Given the description of an element on the screen output the (x, y) to click on. 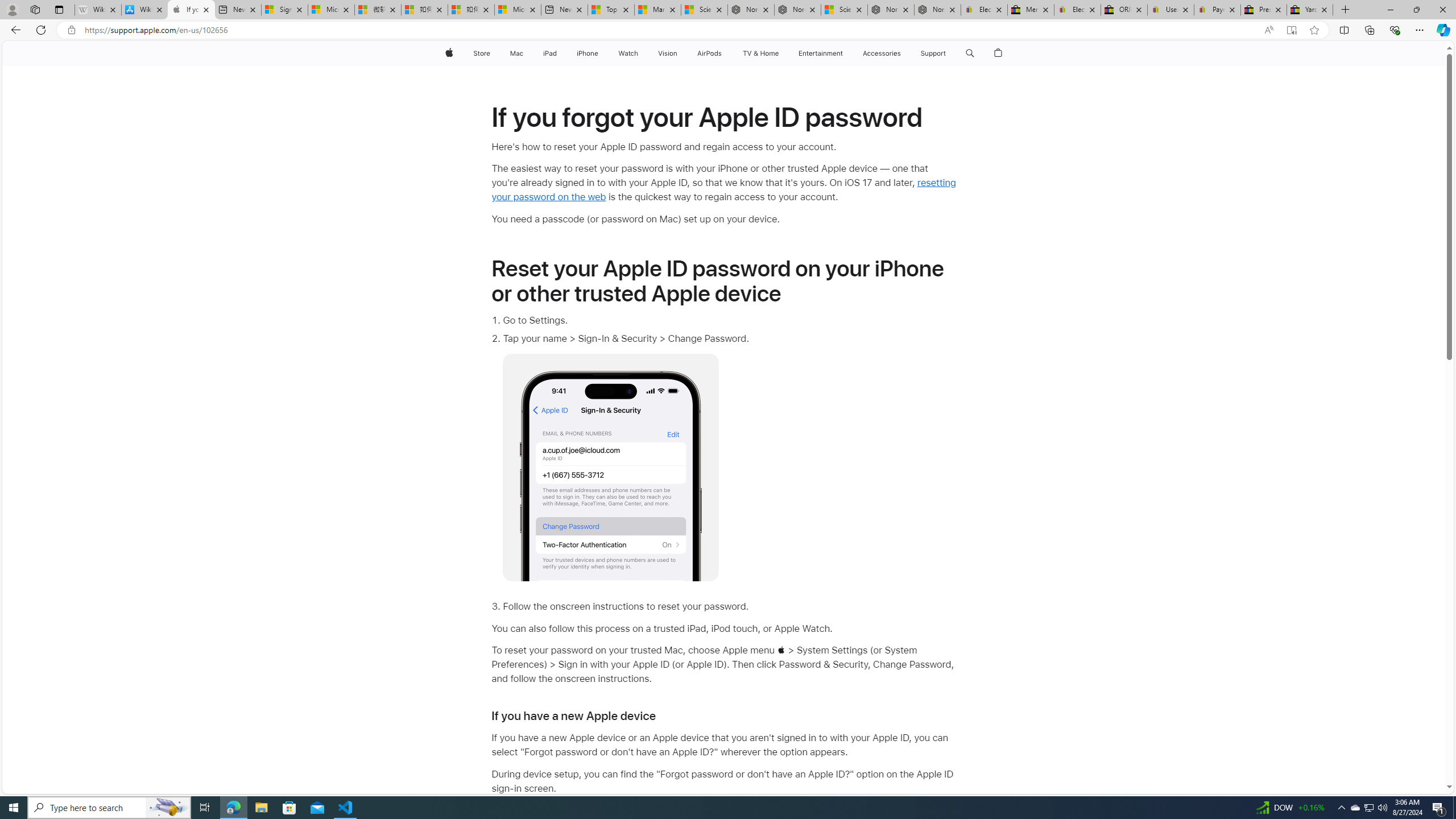
Accessories menu (903, 53)
iPad (550, 53)
iPad (550, 53)
Follow the onscreen instructions to reset your password. (729, 606)
Go to Settings. (729, 320)
iPad menu (557, 53)
